Given the description of an element on the screen output the (x, y) to click on. 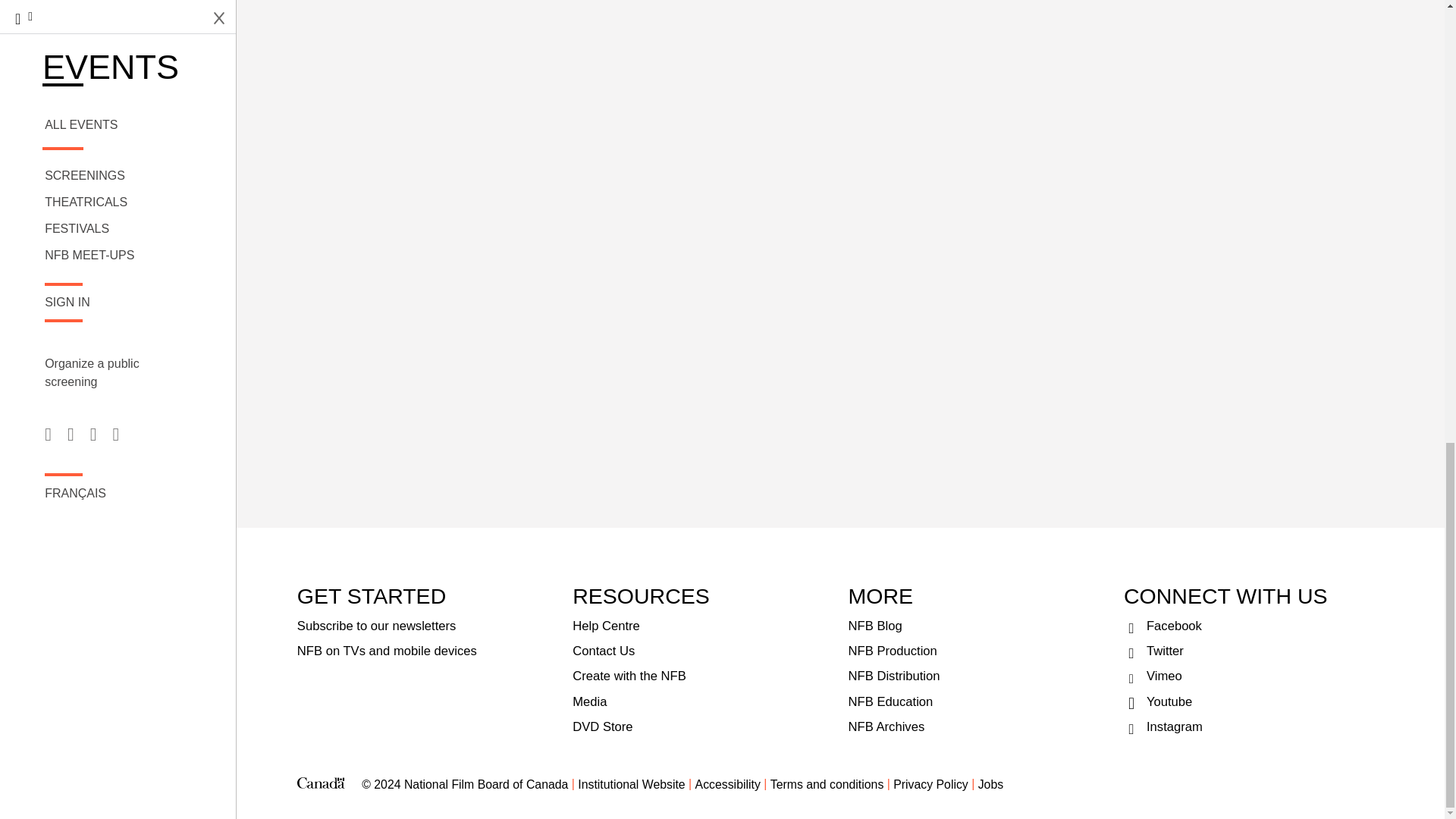
NFB Archives (978, 726)
NFB Production (978, 650)
Subscribe to our newsletters (427, 625)
NFB on TVs and mobile devices (427, 650)
NFB Distribution (978, 675)
Create with the NFB (702, 675)
Canada (321, 784)
Facebook (1254, 625)
NFB Education (978, 701)
Twitter (1254, 650)
